Given the description of an element on the screen output the (x, y) to click on. 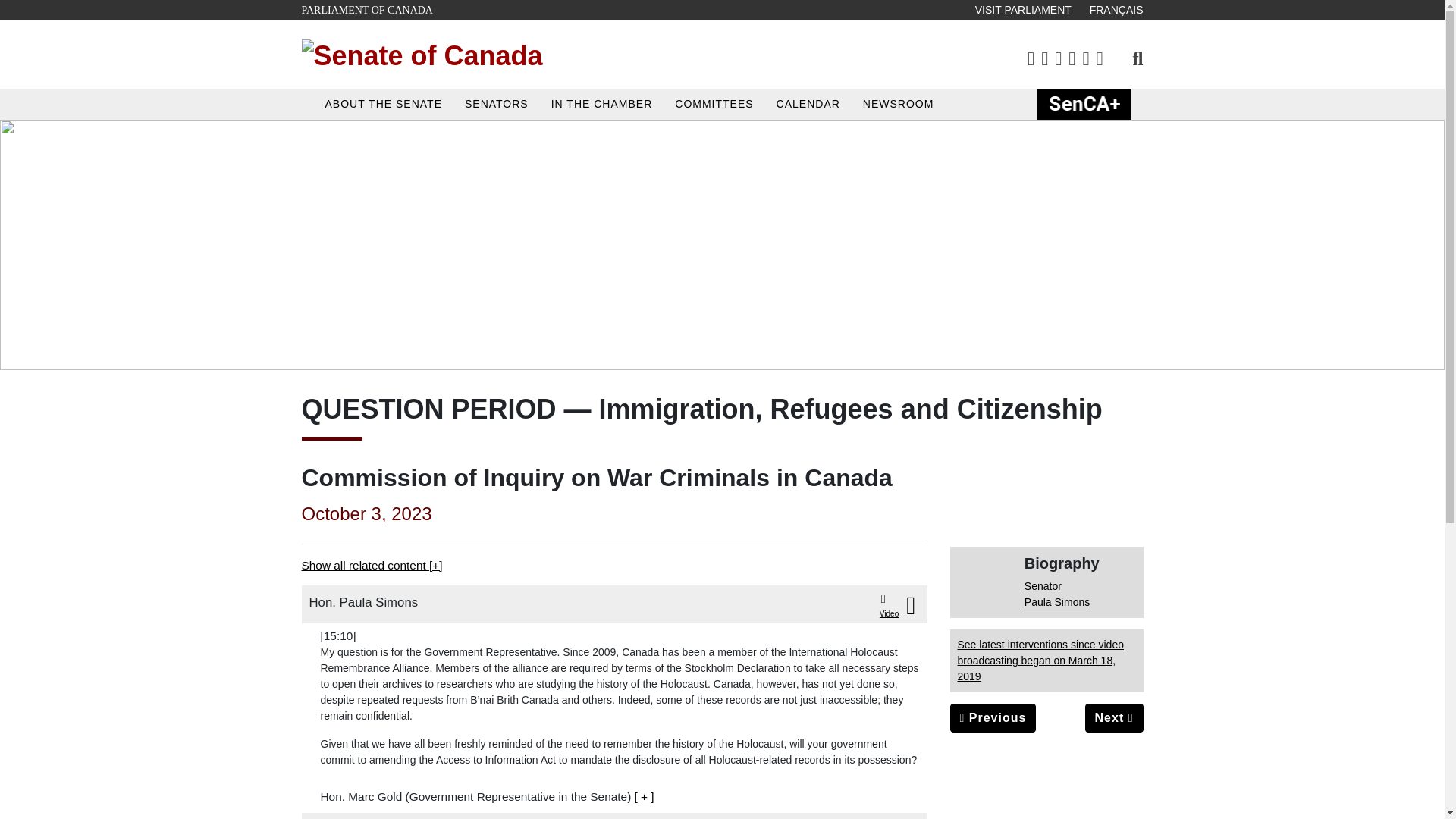
VISIT PARLIAMENT (1023, 10)
Next (1113, 717)
IN THE CHAMBER (601, 102)
SENATORS (496, 102)
ABOUT THE SENATE (383, 102)
Previous (367, 10)
